Given the description of an element on the screen output the (x, y) to click on. 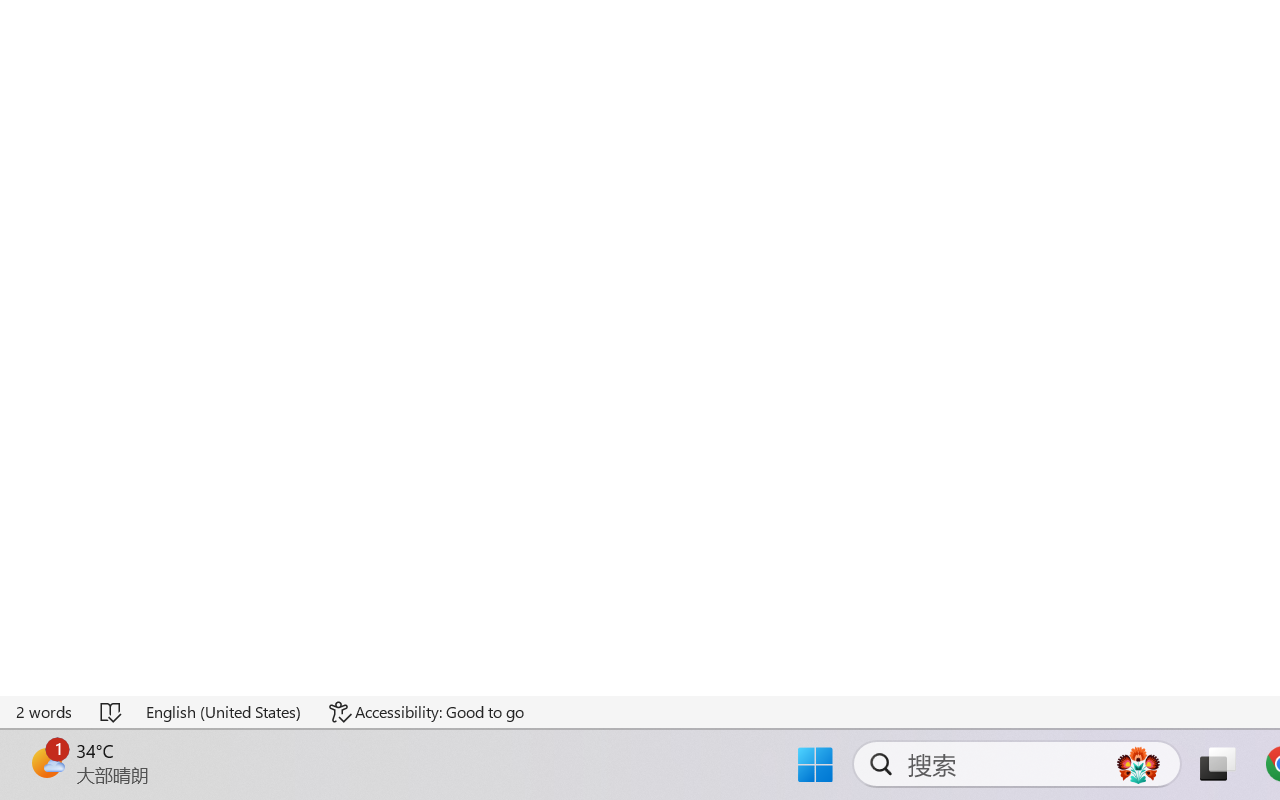
Spelling and Grammar Check No Errors (112, 712)
Language English (United States) (224, 712)
AutomationID: DynamicSearchBoxGleamImage (1138, 764)
Word Count 2 words (45, 712)
AutomationID: BadgeAnchorLargeTicker (46, 762)
Accessibility Checker Accessibility: Good to go (426, 712)
